Given the description of an element on the screen output the (x, y) to click on. 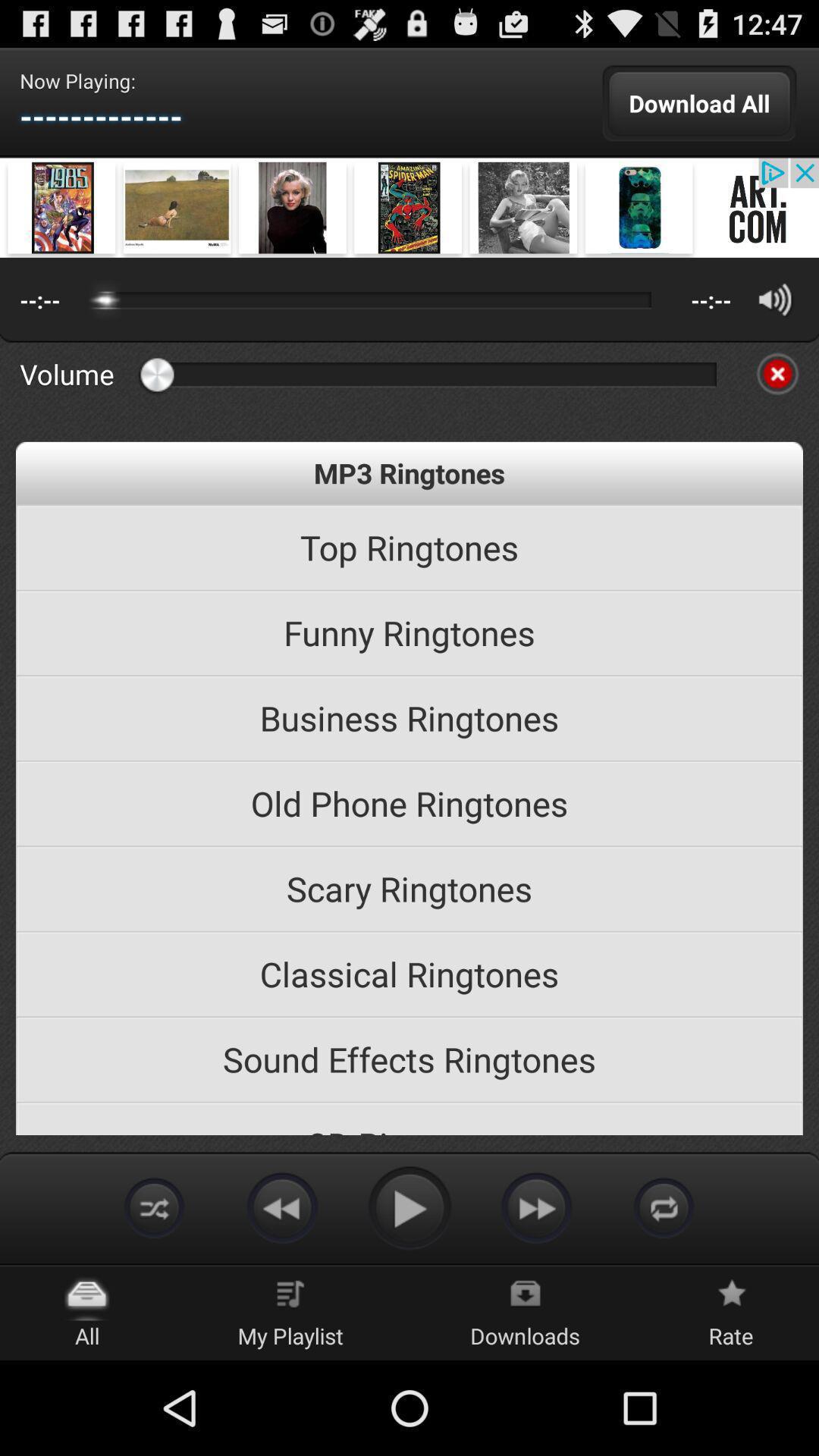
close the option (777, 373)
